Given the description of an element on the screen output the (x, y) to click on. 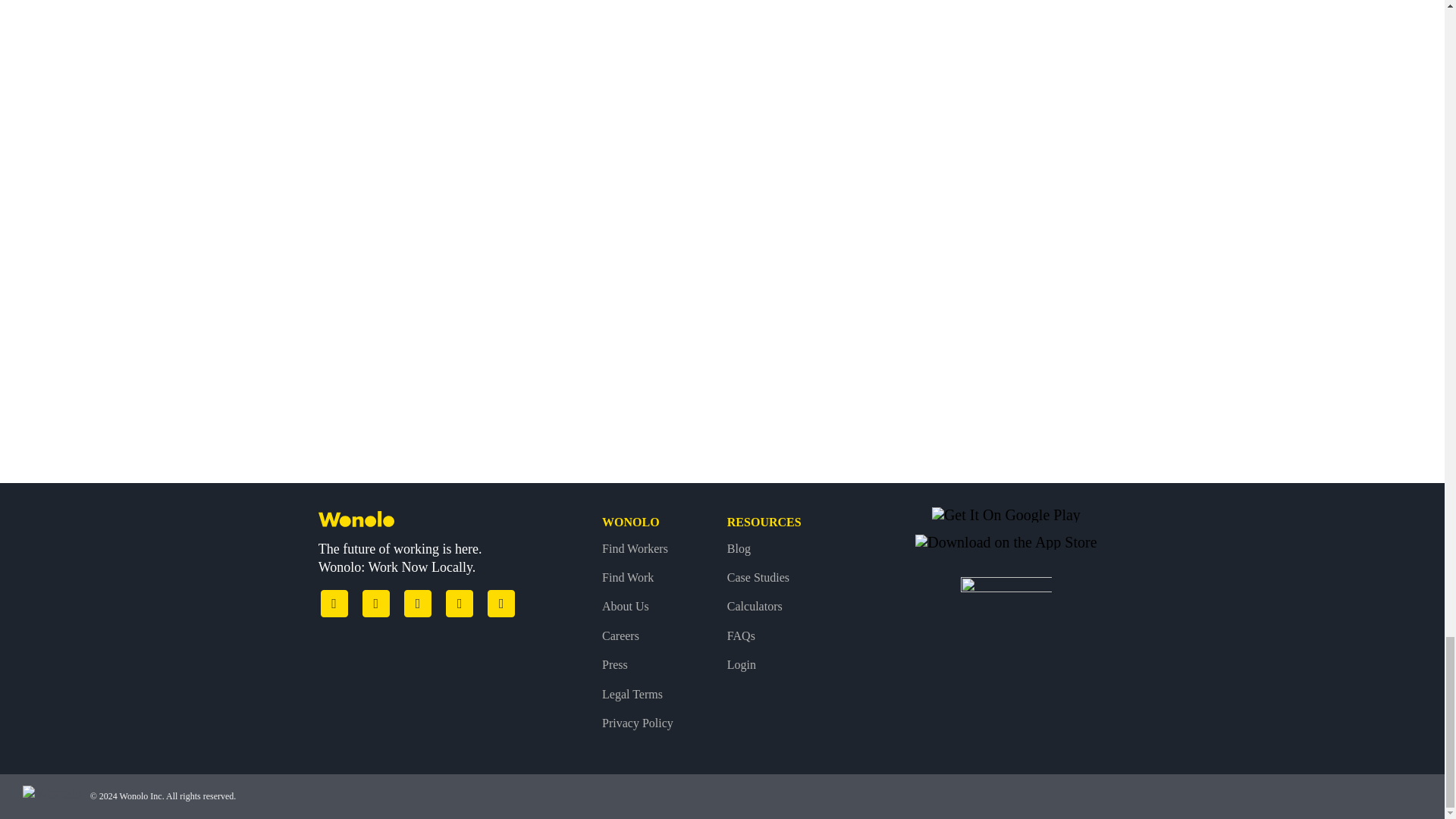
Find Workers (659, 549)
Twitter (376, 603)
YouTube (501, 603)
Facebook (333, 603)
LinkedIn (459, 603)
Instagram (417, 603)
